Given the description of an element on the screen output the (x, y) to click on. 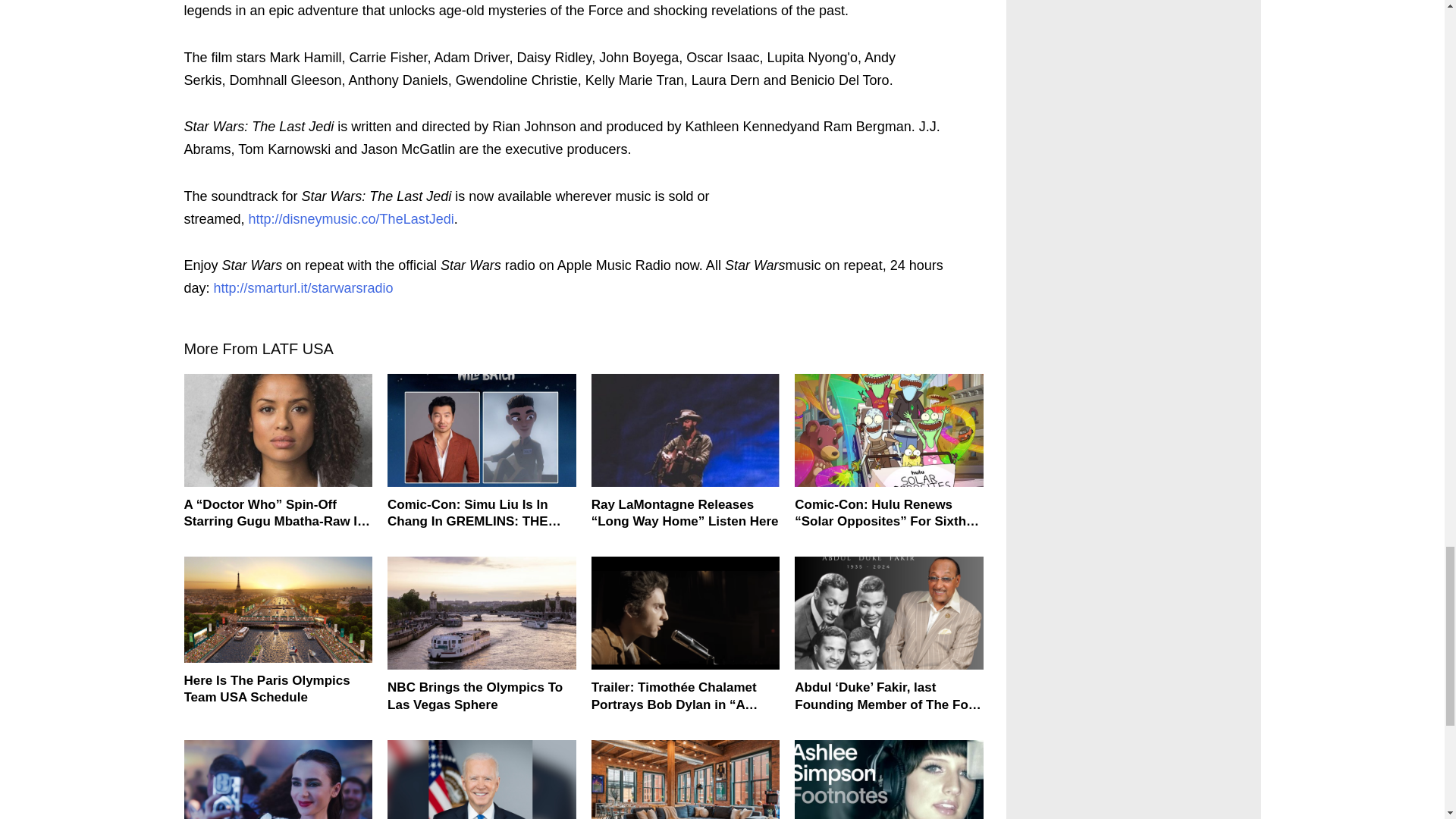
paris olympics team usa schedule (277, 609)
timothee chalamet, bob dylan (685, 612)
nba player penthouse boston (685, 779)
simu liu gremlins (481, 429)
solar opposites on hulu (889, 429)
Gugu Mbatha-Raw (277, 429)
paris olympics (481, 612)
president joe biden (481, 779)
